Given the description of an element on the screen output the (x, y) to click on. 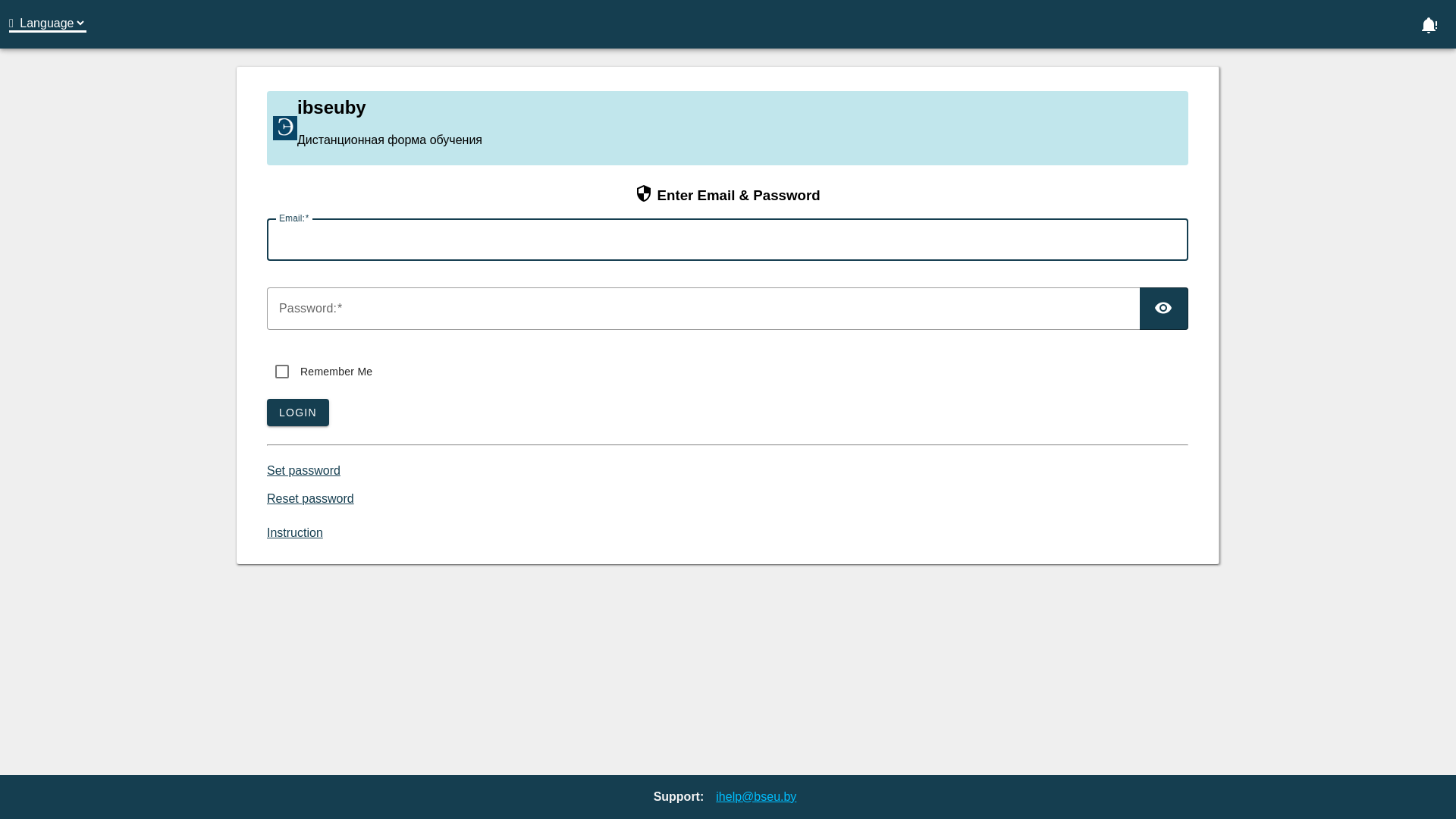
Instruction Element type: text (294, 532)
ihelp@bseu.by Element type: text (755, 796)
Reset password Element type: text (310, 498)
Login Element type: text (1428, 24)
TOGGLE PASSWORD Element type: text (1163, 308)
ibseuby Element type: hover (285, 128)
Set password Element type: text (303, 470)
LOGIN Element type: text (297, 412)
